Given the description of an element on the screen output the (x, y) to click on. 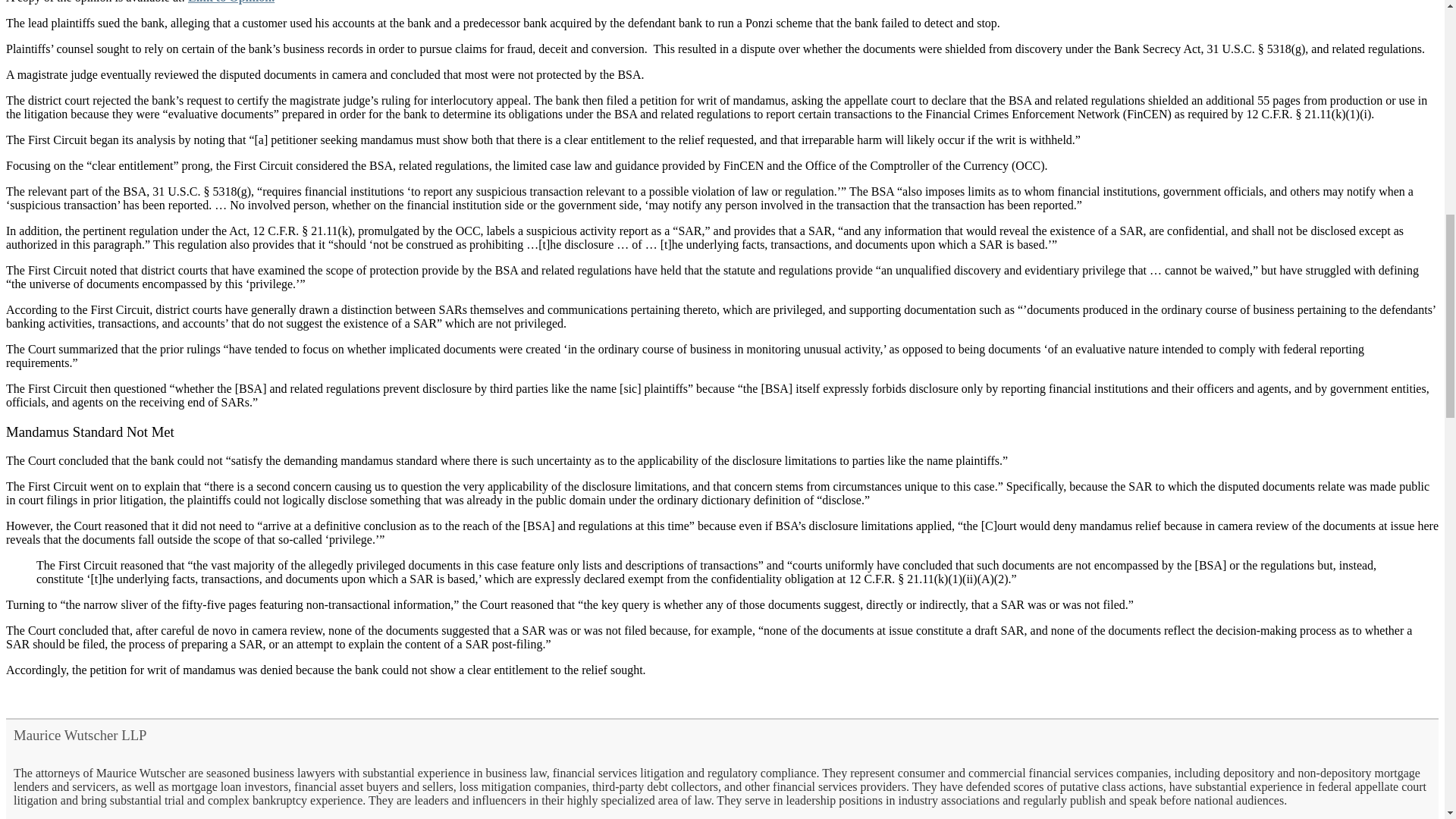
Maurice Wutscher LLP (80, 734)
Link to Opinion. (231, 2)
All posts by Maurice Wutscher LLP (80, 734)
